Given the description of an element on the screen output the (x, y) to click on. 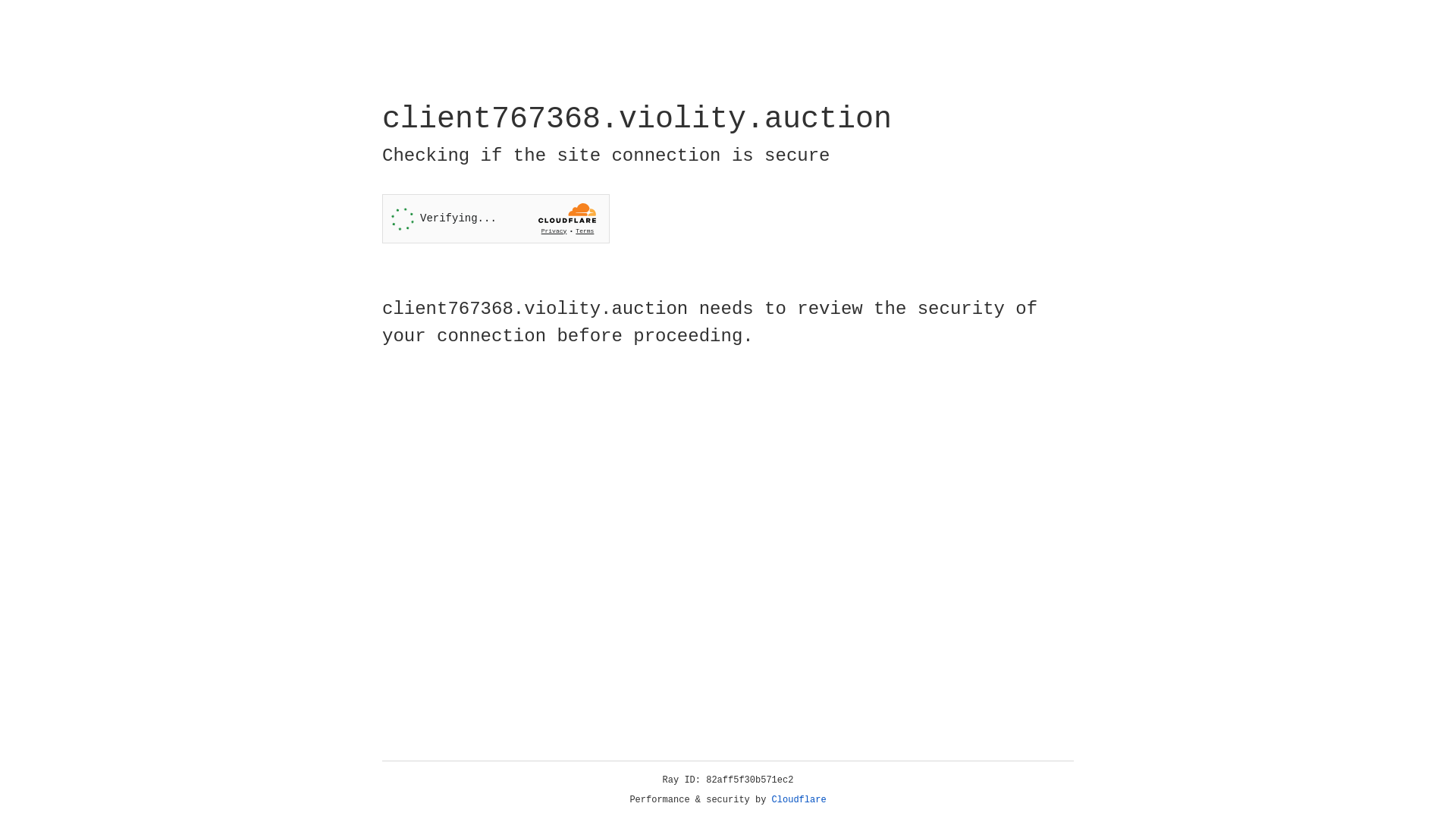
Widget containing a Cloudflare security challenge Element type: hover (495, 218)
Cloudflare Element type: text (798, 799)
